Given the description of an element on the screen output the (x, y) to click on. 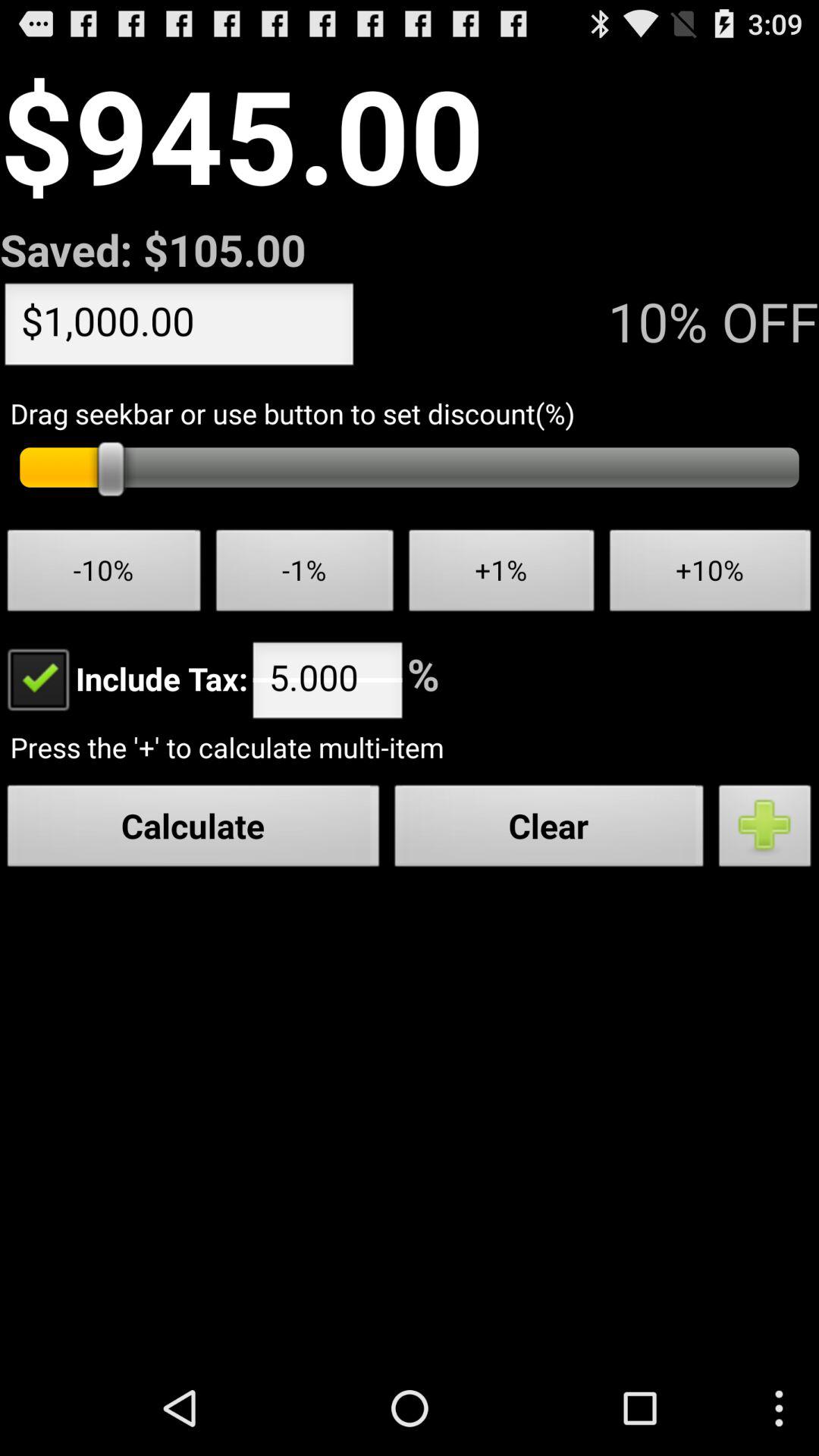
click the item to the right of the clear button (765, 830)
